Given the description of an element on the screen output the (x, y) to click on. 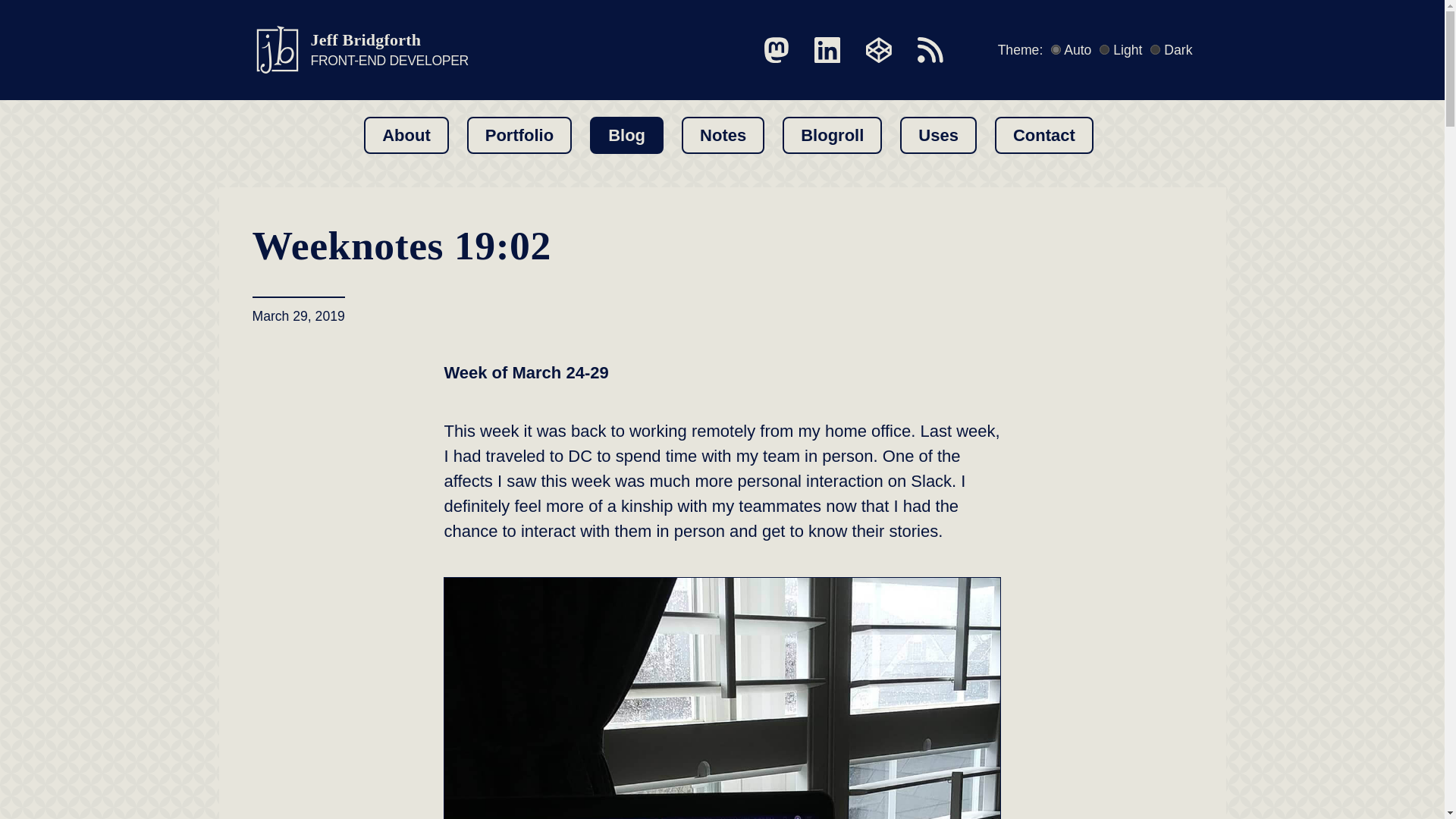
Blogroll (832, 135)
Feed (929, 49)
Portfolio (519, 135)
Contact (1043, 135)
Blog (626, 135)
Notes (722, 135)
auto (1056, 49)
Mastodon (776, 49)
About (406, 135)
Codepen (878, 49)
